Given the description of an element on the screen output the (x, y) to click on. 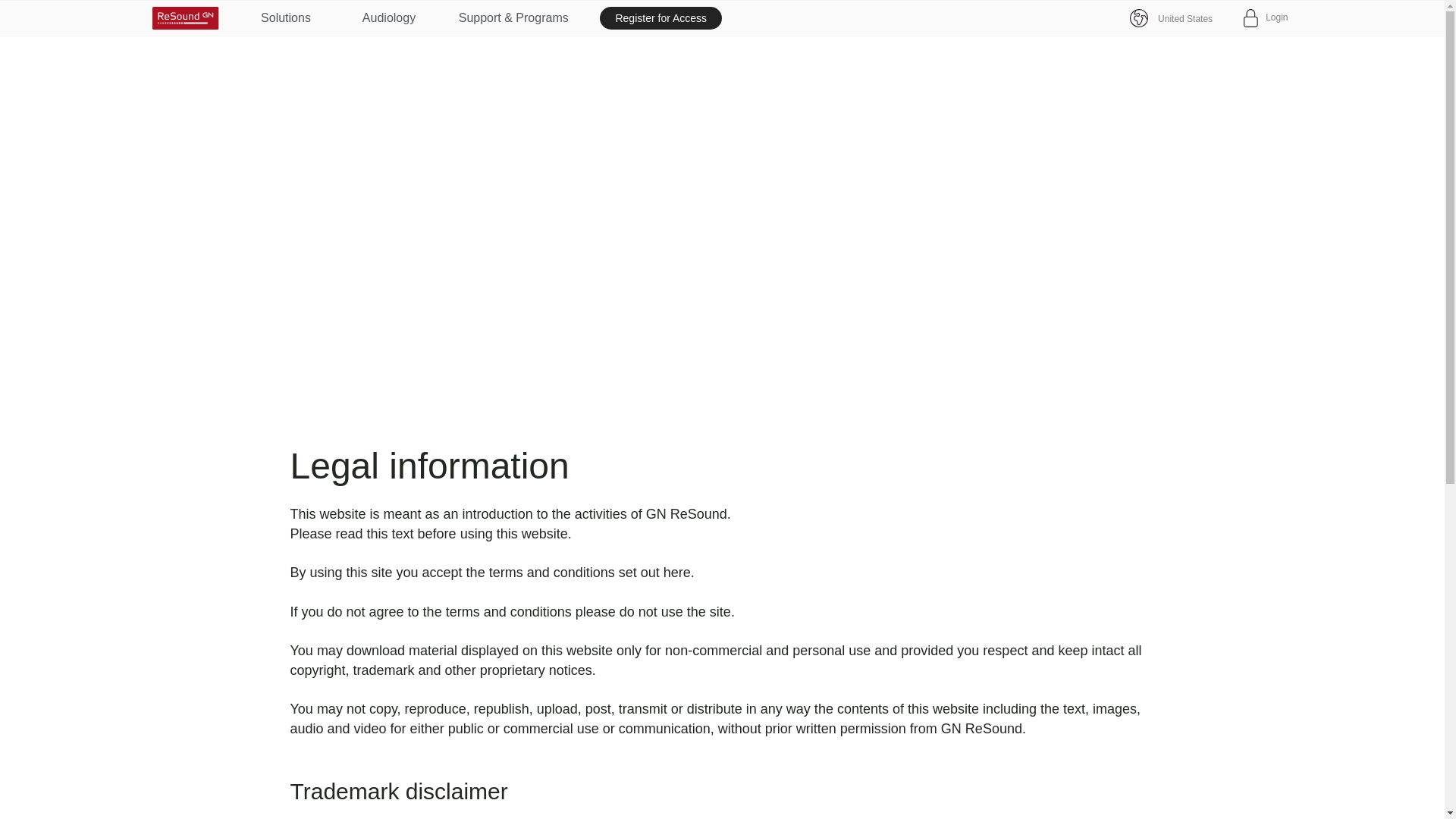
Register for Access (660, 17)
Audiology (388, 18)
Solutions (285, 18)
Audiology (388, 18)
Solutions (285, 18)
